Given the description of an element on the screen output the (x, y) to click on. 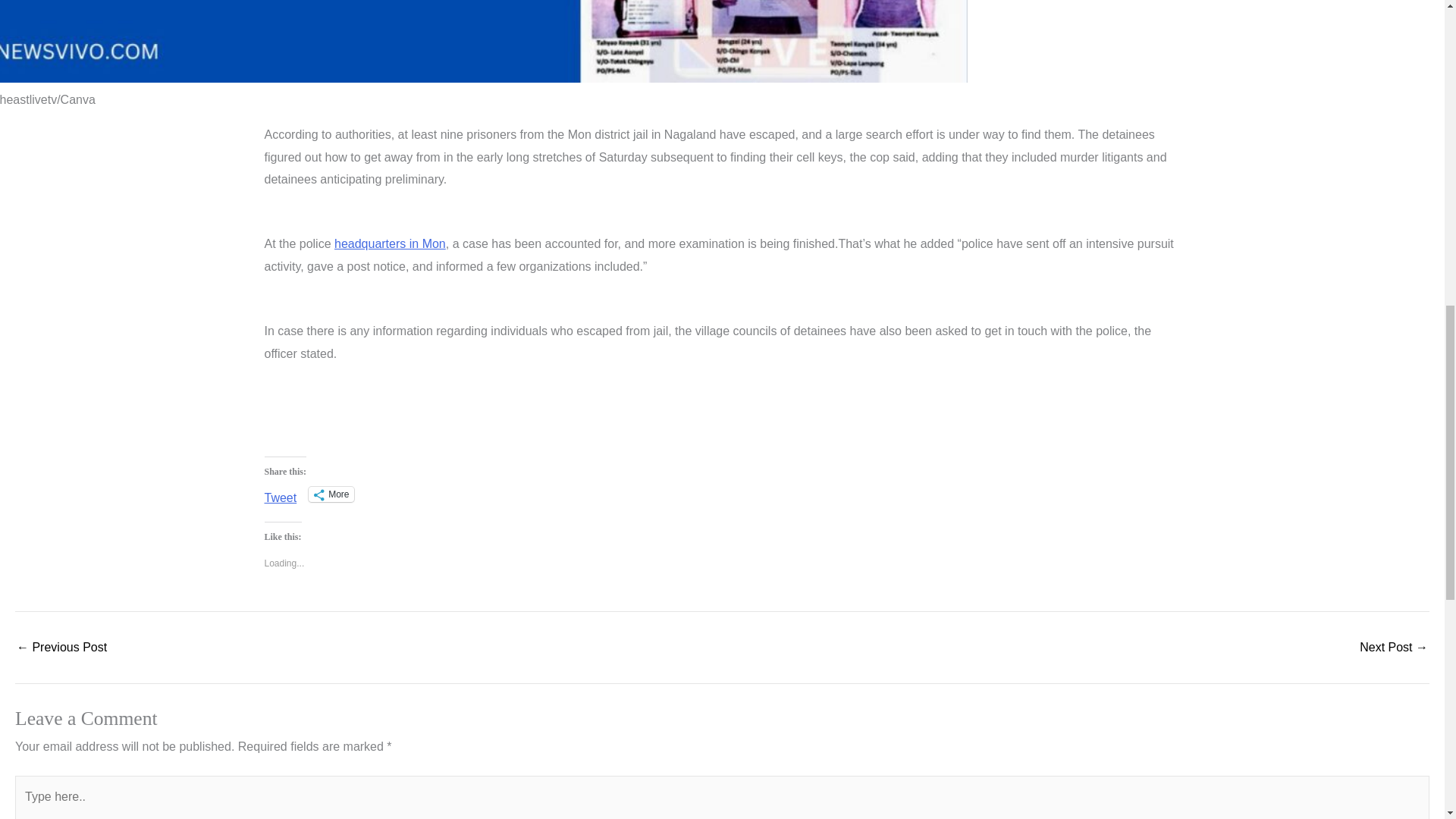
Reduce personal income tax rates and decriminalise GST law (1393, 647)
headquarters in Mon (389, 243)
